Given the description of an element on the screen output the (x, y) to click on. 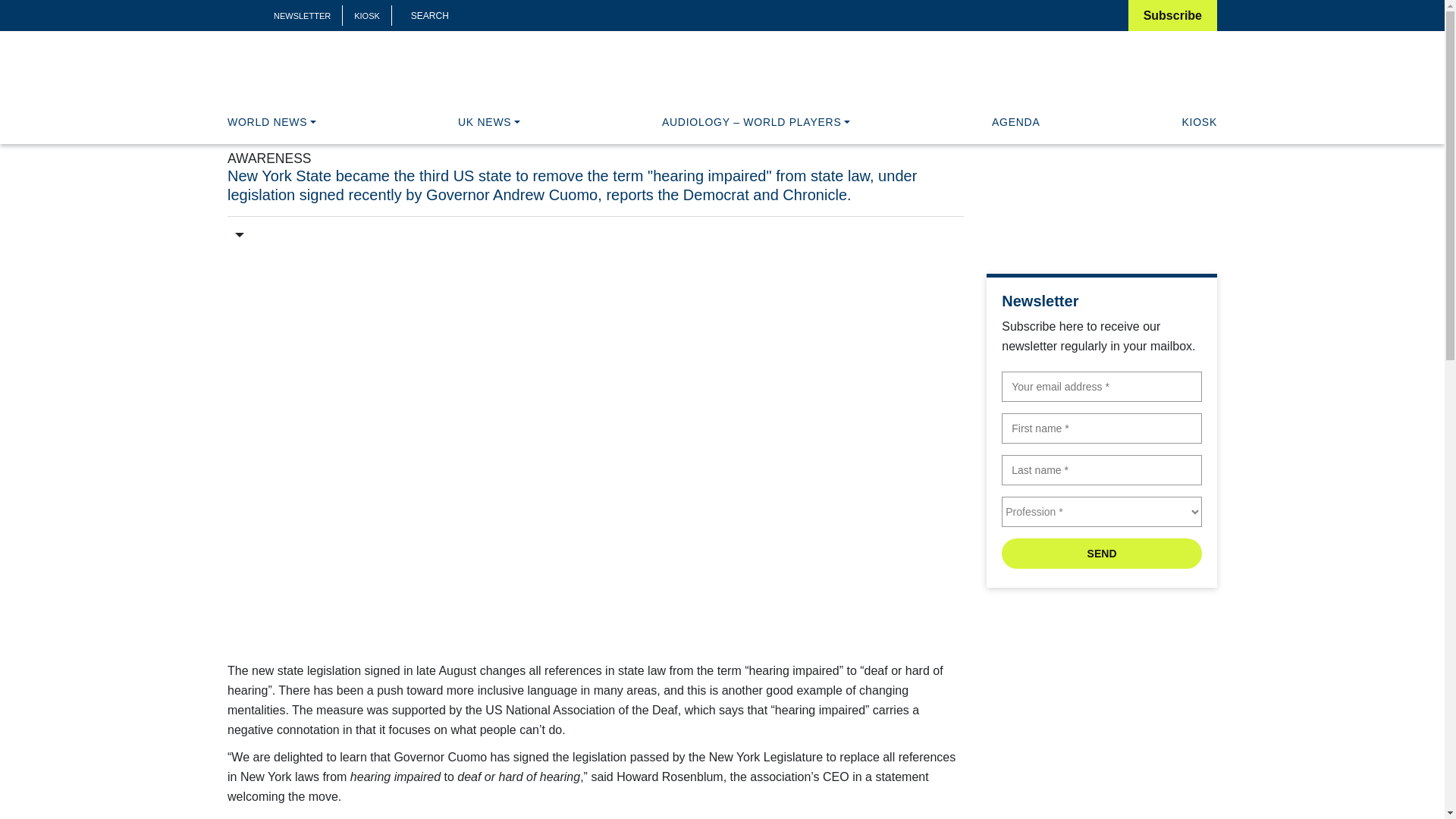
WORLD NEWS (271, 122)
Send (1101, 553)
KIOSK (366, 15)
NEWSLETTER (301, 15)
Subscribe (1172, 15)
